Given the description of an element on the screen output the (x, y) to click on. 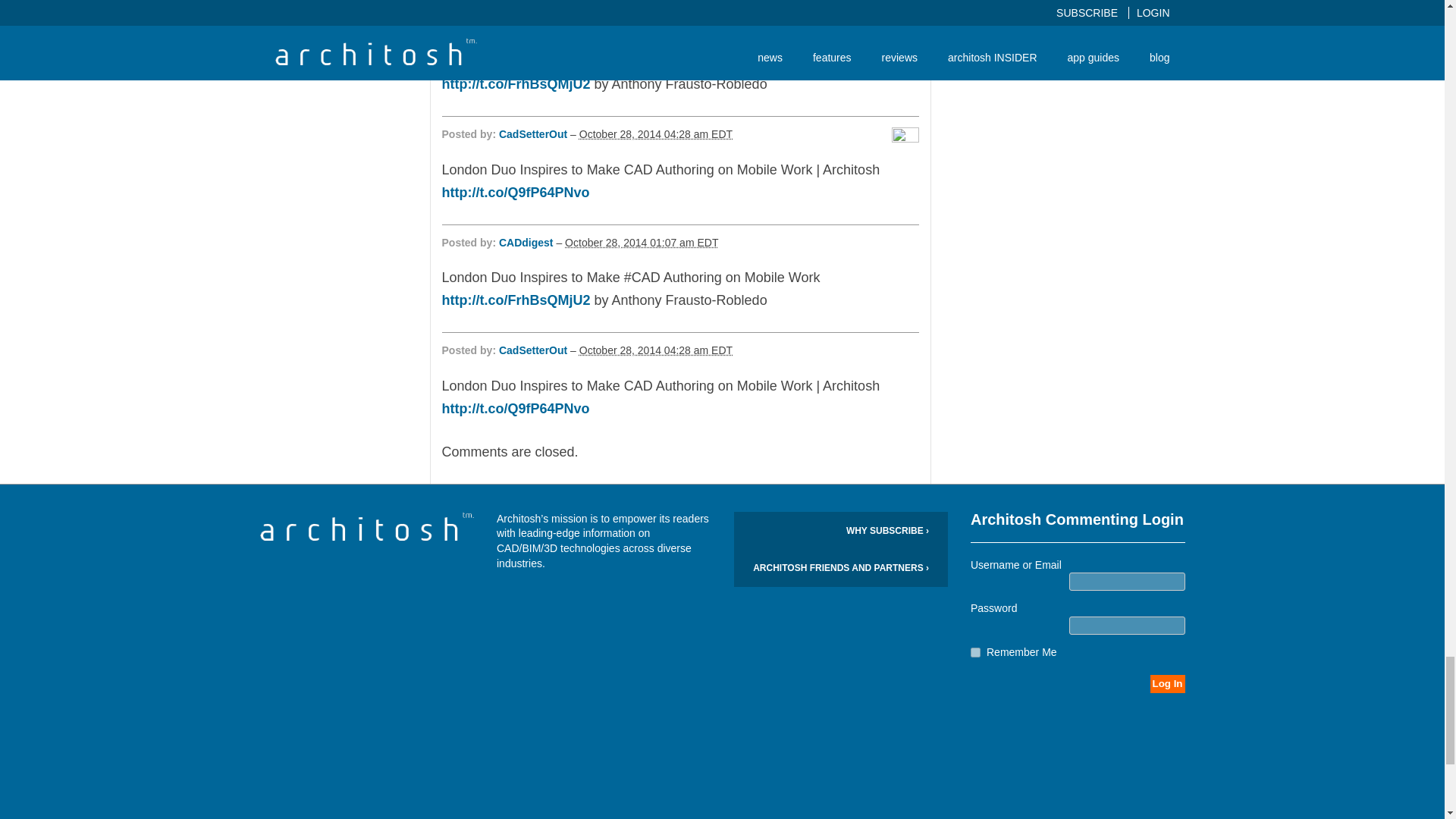
forever (975, 652)
Log In (1167, 683)
